Given the description of an element on the screen output the (x, y) to click on. 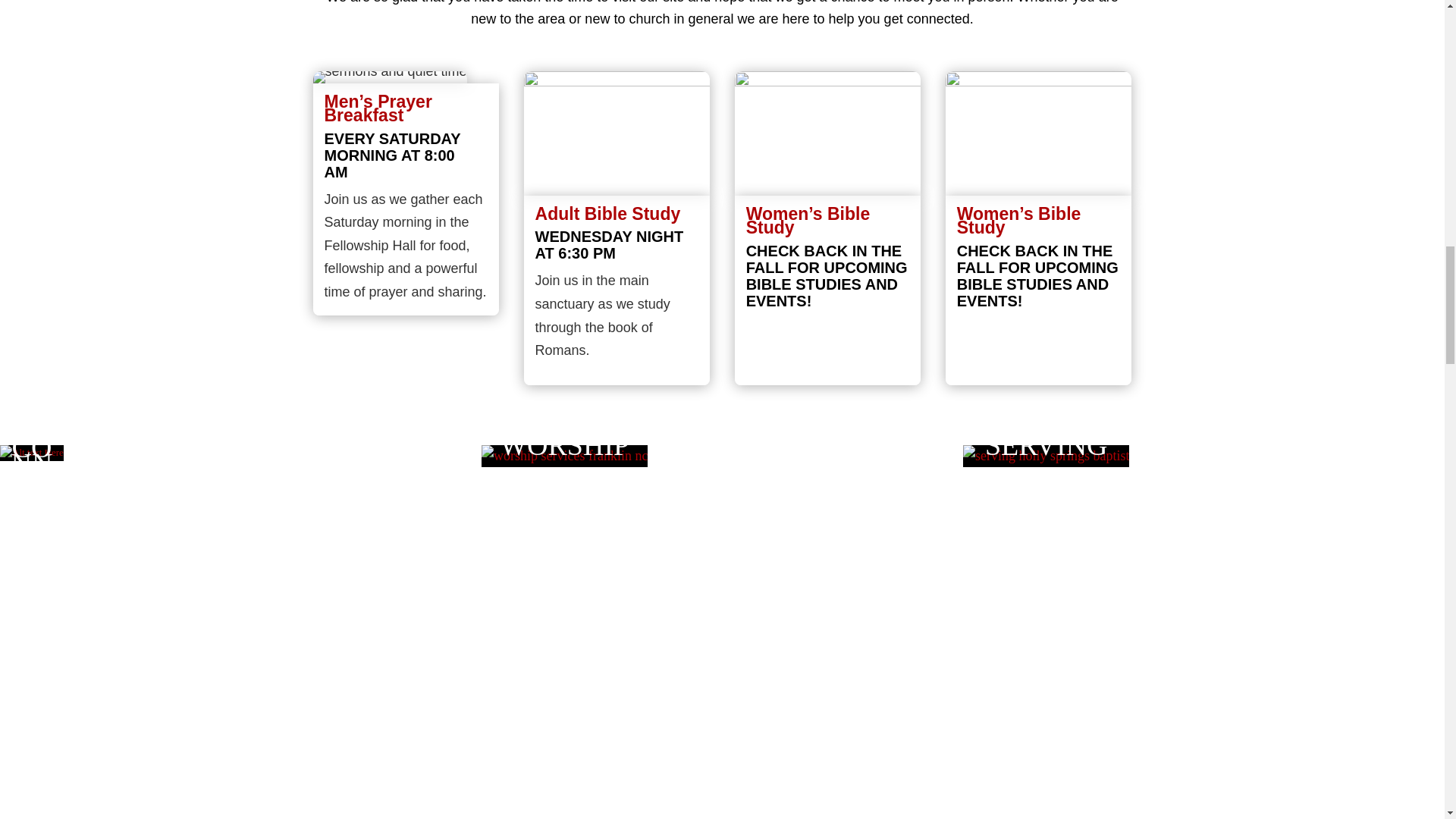
mens-prayer-breakfast (389, 77)
blog-1 (828, 133)
blog-1 (1038, 133)
blog-2 (617, 133)
